Given the description of an element on the screen output the (x, y) to click on. 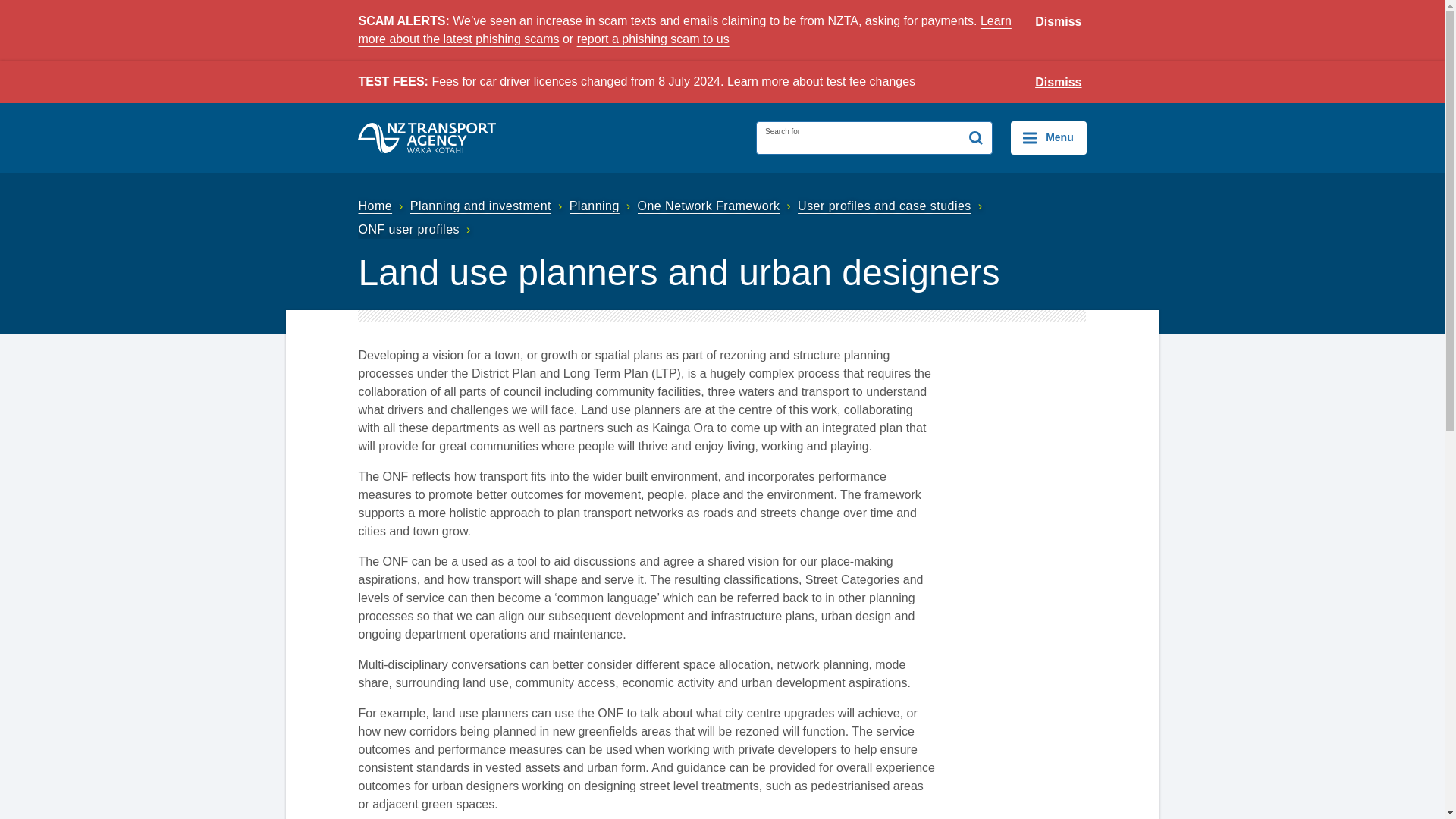
Menu (1048, 137)
Home (382, 205)
report a phishing scam to us (652, 38)
Learn more about test fee changes (820, 81)
NZ Transport Agency Waka Kotahi (427, 137)
Learn more about the latest phishing scams (684, 29)
Dismiss (1058, 21)
Dismiss (1058, 82)
